Given the description of an element on the screen output the (x, y) to click on. 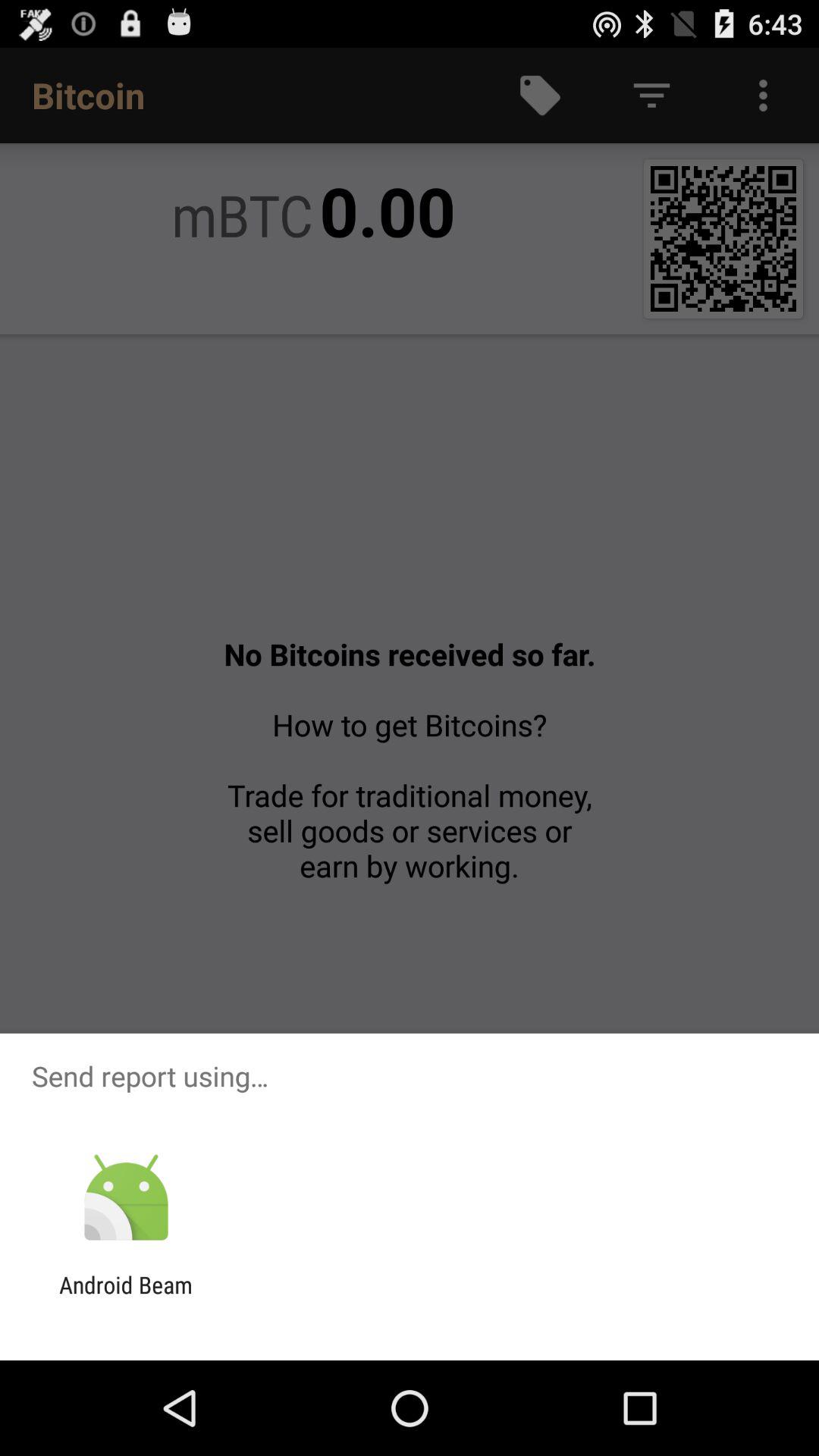
flip until android beam app (125, 1298)
